Given the description of an element on the screen output the (x, y) to click on. 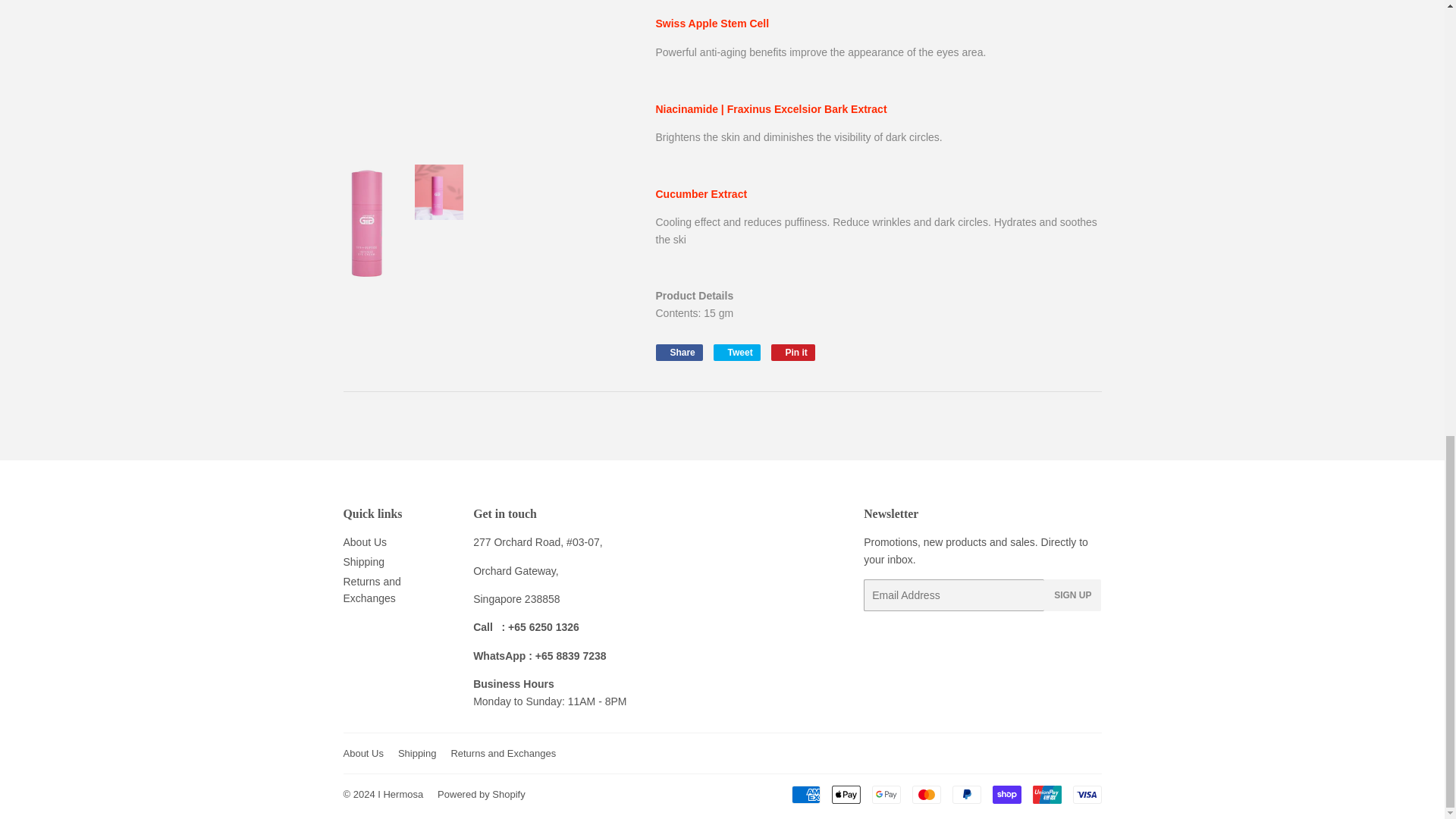
Visa (1085, 794)
Tweet on Twitter (736, 352)
American Express (806, 794)
PayPal (966, 794)
Google Pay (886, 794)
Union Pay (1046, 794)
Apple Pay (845, 794)
Mastercard (925, 794)
Shop Pay (1005, 794)
Share on Facebook (678, 352)
Pin on Pinterest (793, 352)
